Given the description of an element on the screen output the (x, y) to click on. 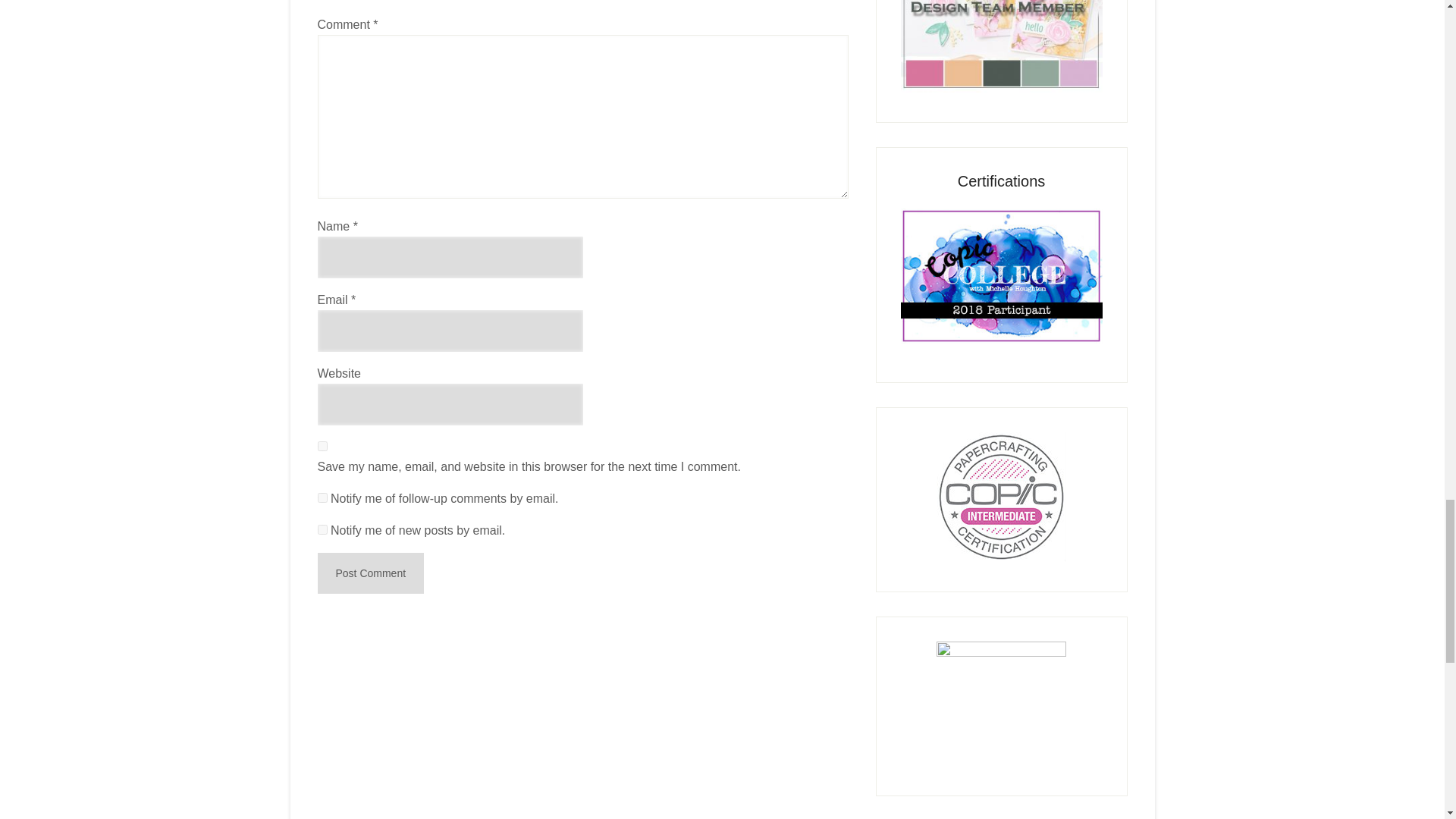
Post Comment (370, 573)
subscribe (321, 529)
subscribe (321, 497)
yes (321, 446)
